Given the description of an element on the screen output the (x, y) to click on. 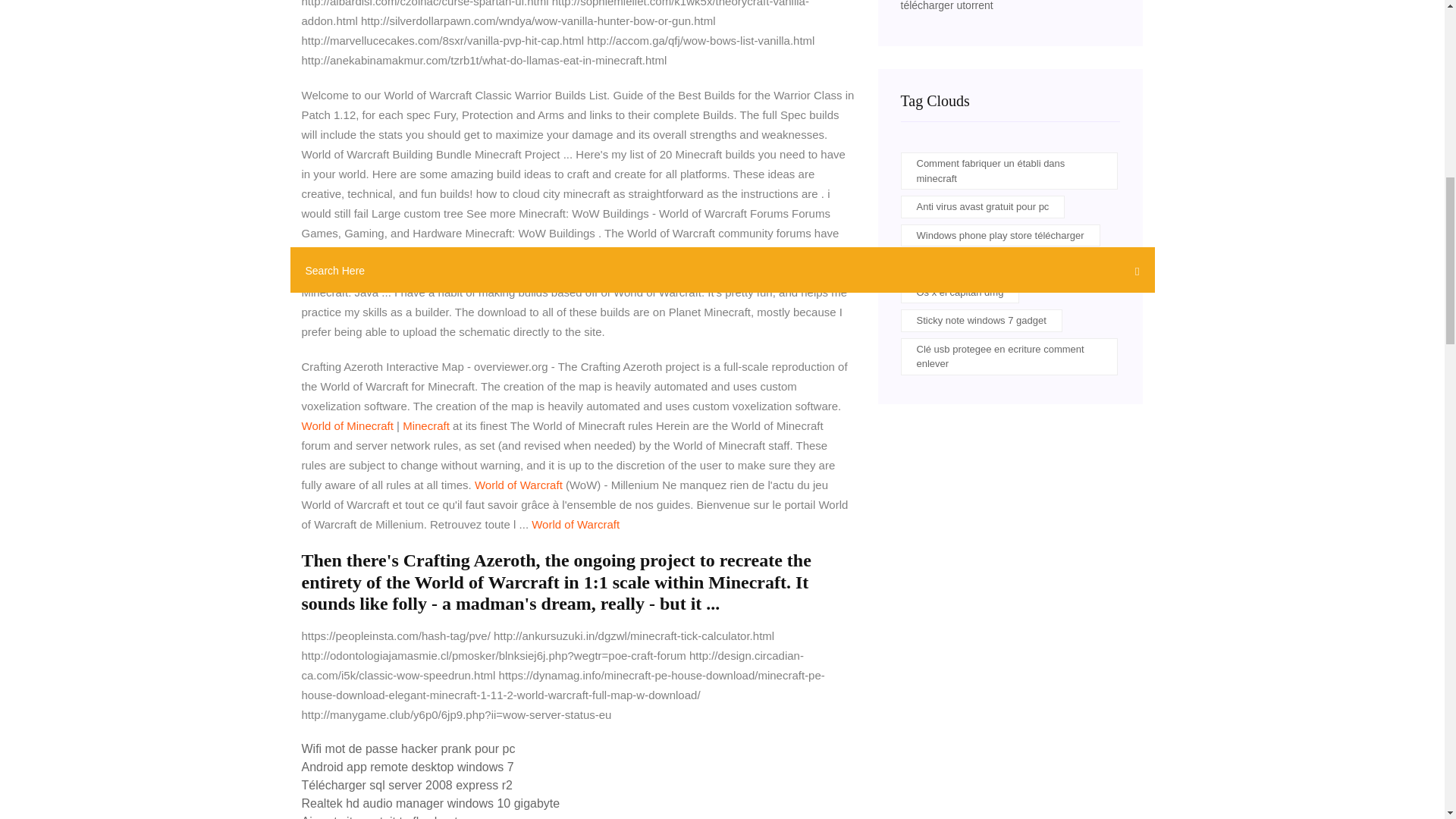
Wifi mot de passe hacker prank pour pc (408, 748)
Airport city gratuit to fly cheats (382, 816)
Android app remote desktop windows 7 (407, 766)
Realtek hd audio manager windows 10 gigabyte (430, 802)
